Given the description of an element on the screen output the (x, y) to click on. 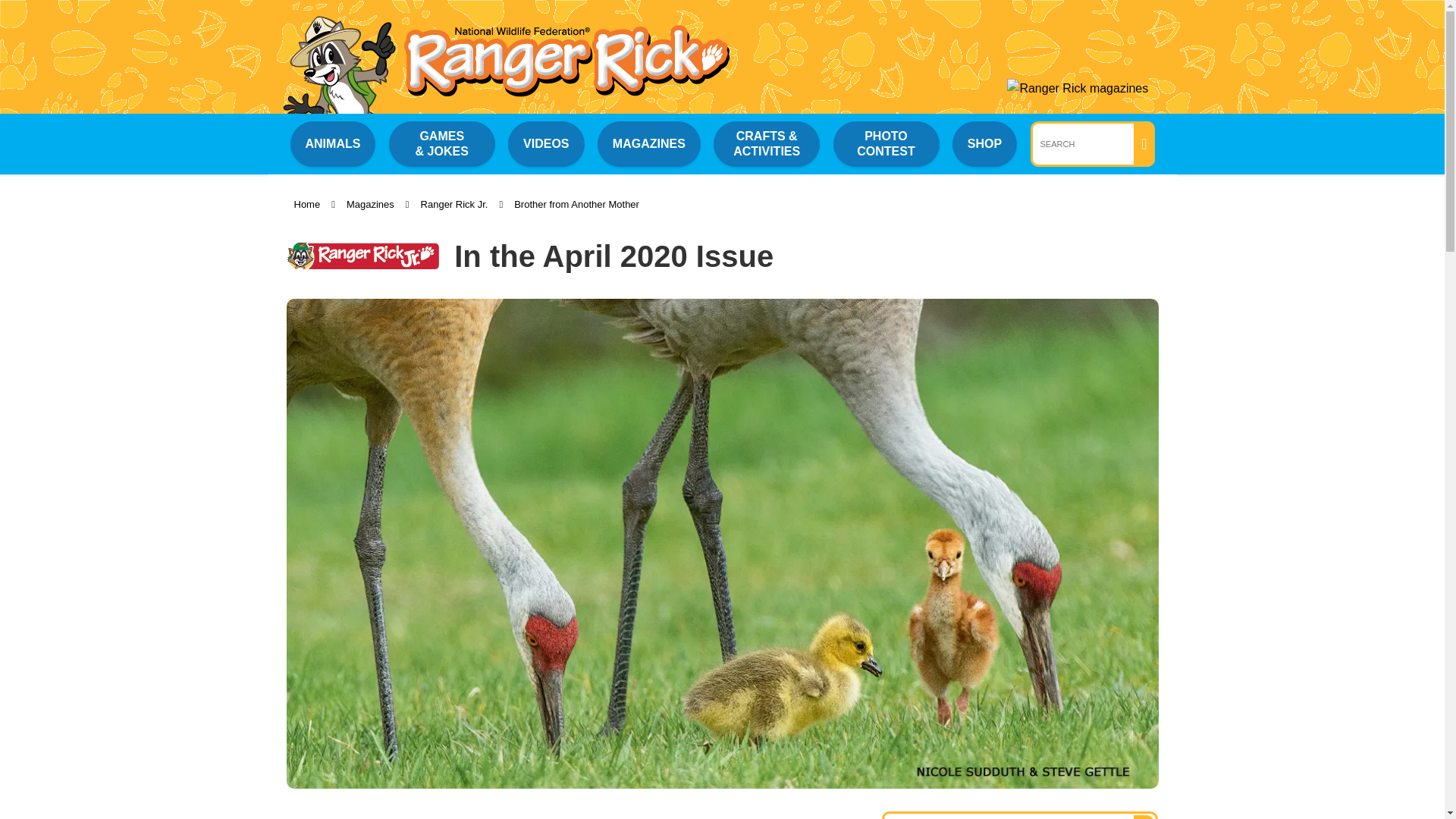
ANIMALS (332, 143)
Ranger Rick Jr. (453, 204)
PHOTO CONTEST (885, 144)
MAGAZINES (648, 143)
SHOP (984, 143)
Magazines (370, 204)
VIDEOS (545, 143)
Home (307, 204)
